Given the description of an element on the screen output the (x, y) to click on. 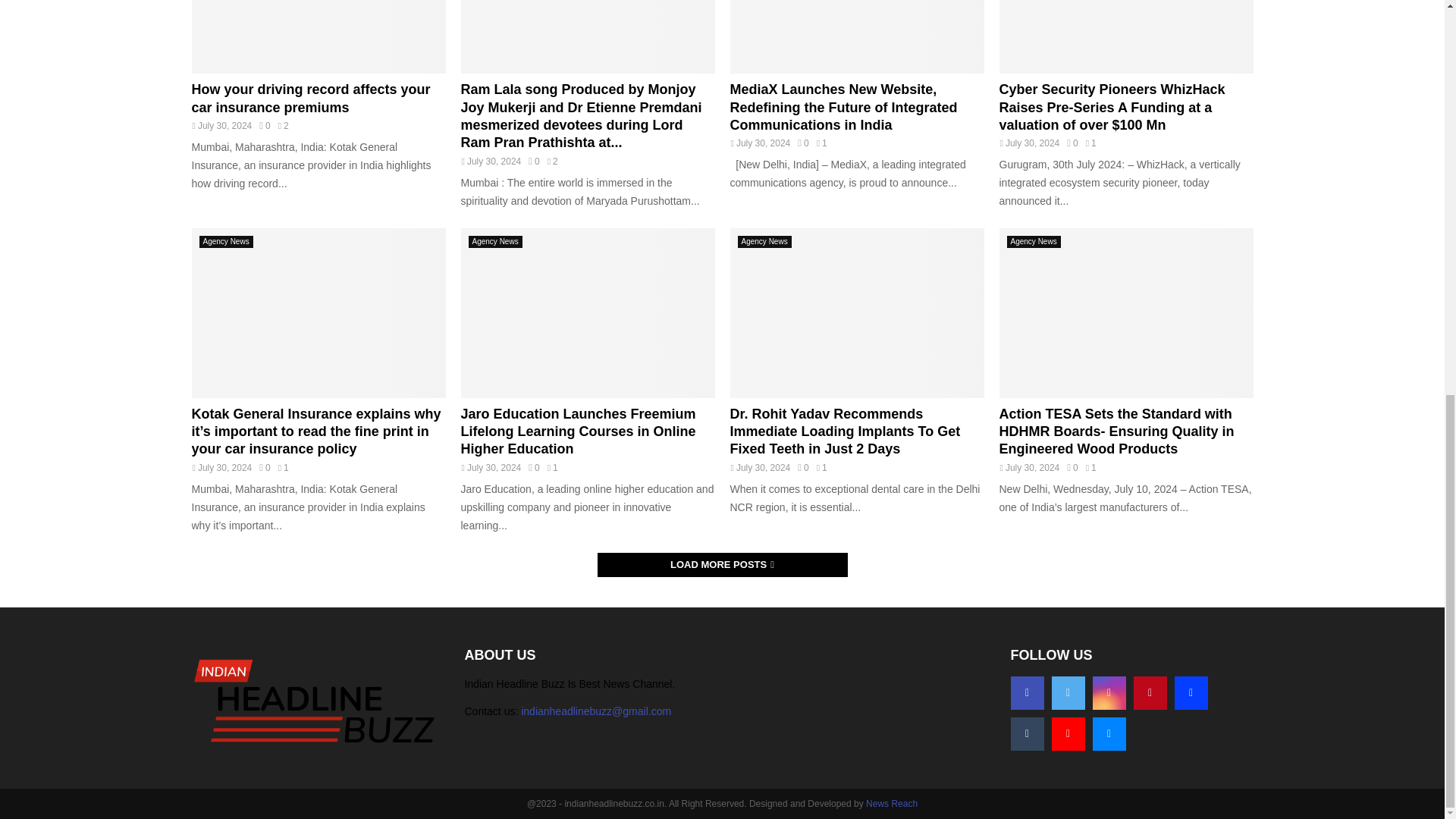
How your driving record affects your car insurance premiums (317, 36)
0 (264, 125)
How your driving record affects your car insurance premiums (309, 97)
0 (802, 143)
0 (1072, 143)
0 (533, 161)
